Given the description of an element on the screen output the (x, y) to click on. 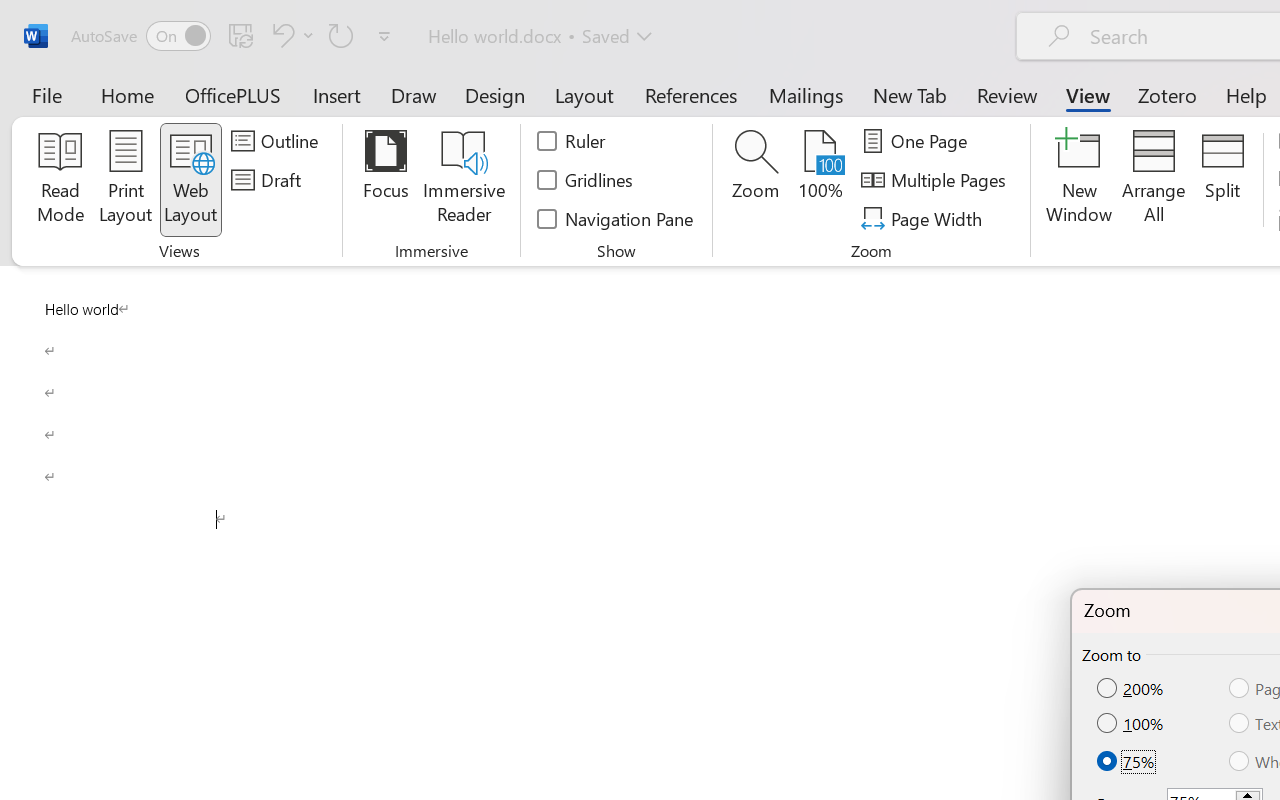
Quick Access Toolbar (233, 36)
View (1087, 94)
Print Layout (125, 179)
References (690, 94)
Outline (278, 141)
Undo Paragraph Formatting (290, 35)
100% (1131, 723)
Ruler (572, 141)
Save (241, 35)
Draw (413, 94)
New Window (1079, 179)
Undo Paragraph Formatting (280, 35)
Multiple Pages (936, 179)
Review (1007, 94)
100% (820, 179)
